Given the description of an element on the screen output the (x, y) to click on. 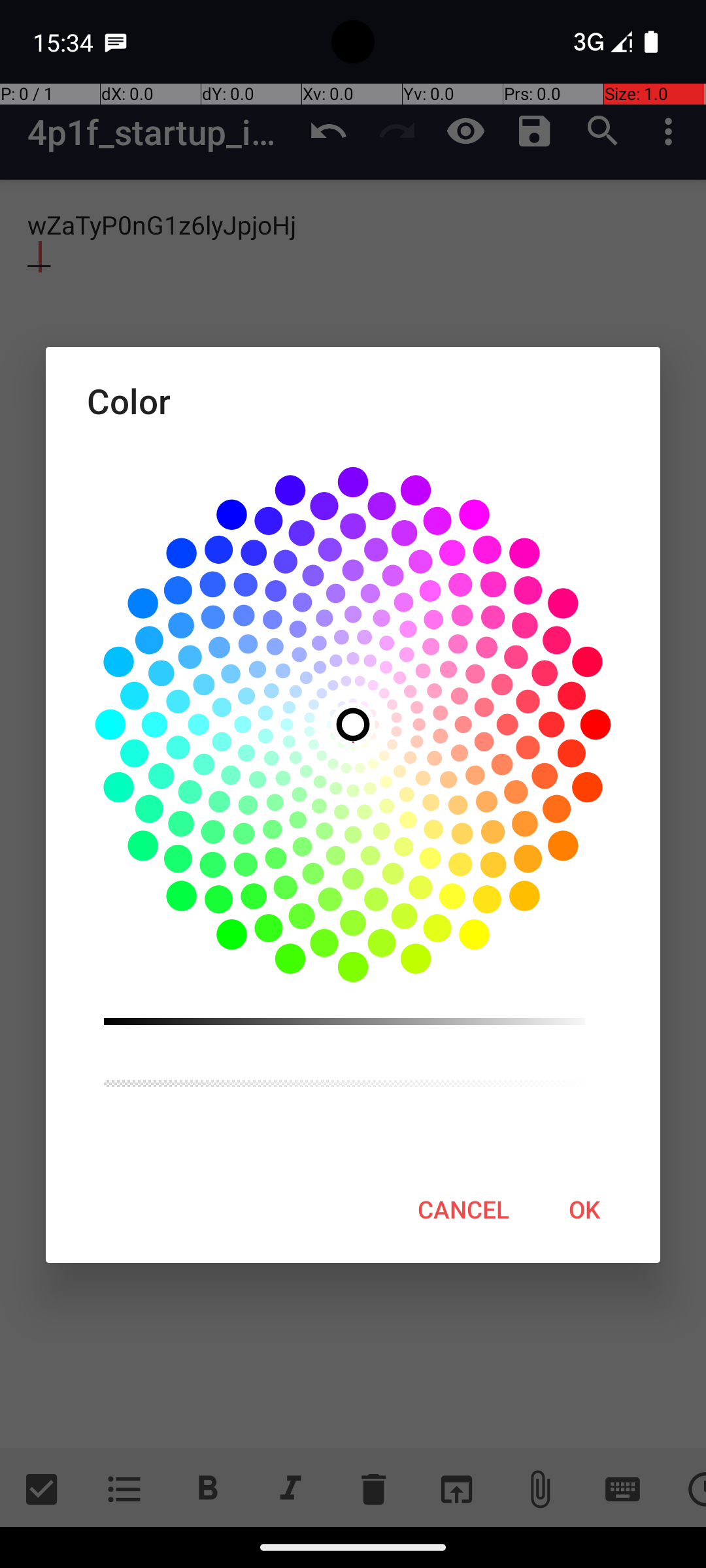
Color Element type: android.widget.TextView (352, 400)
